Given the description of an element on the screen output the (x, y) to click on. 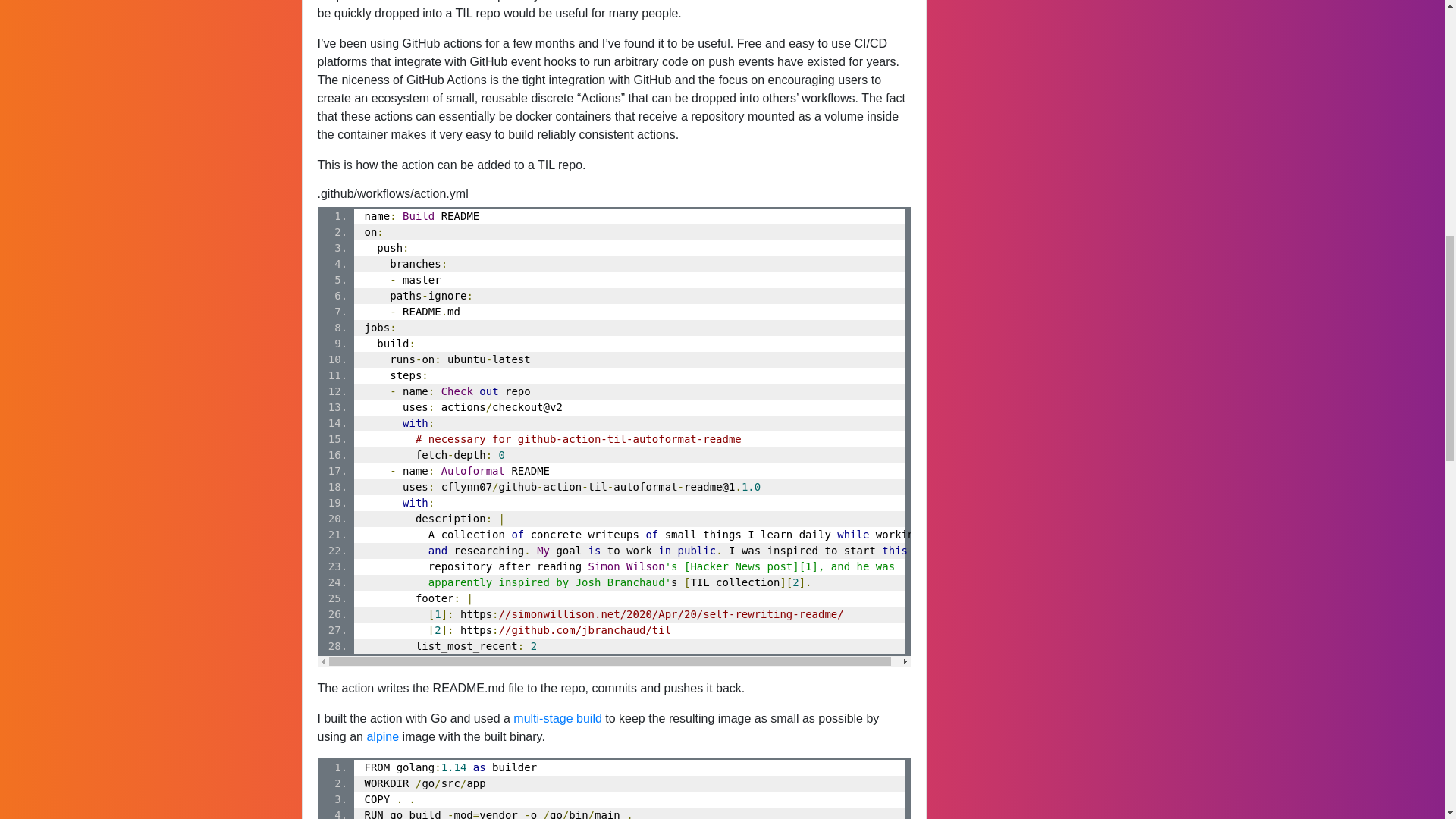
multi-stage build (557, 717)
alpine (382, 736)
